Given the description of an element on the screen output the (x, y) to click on. 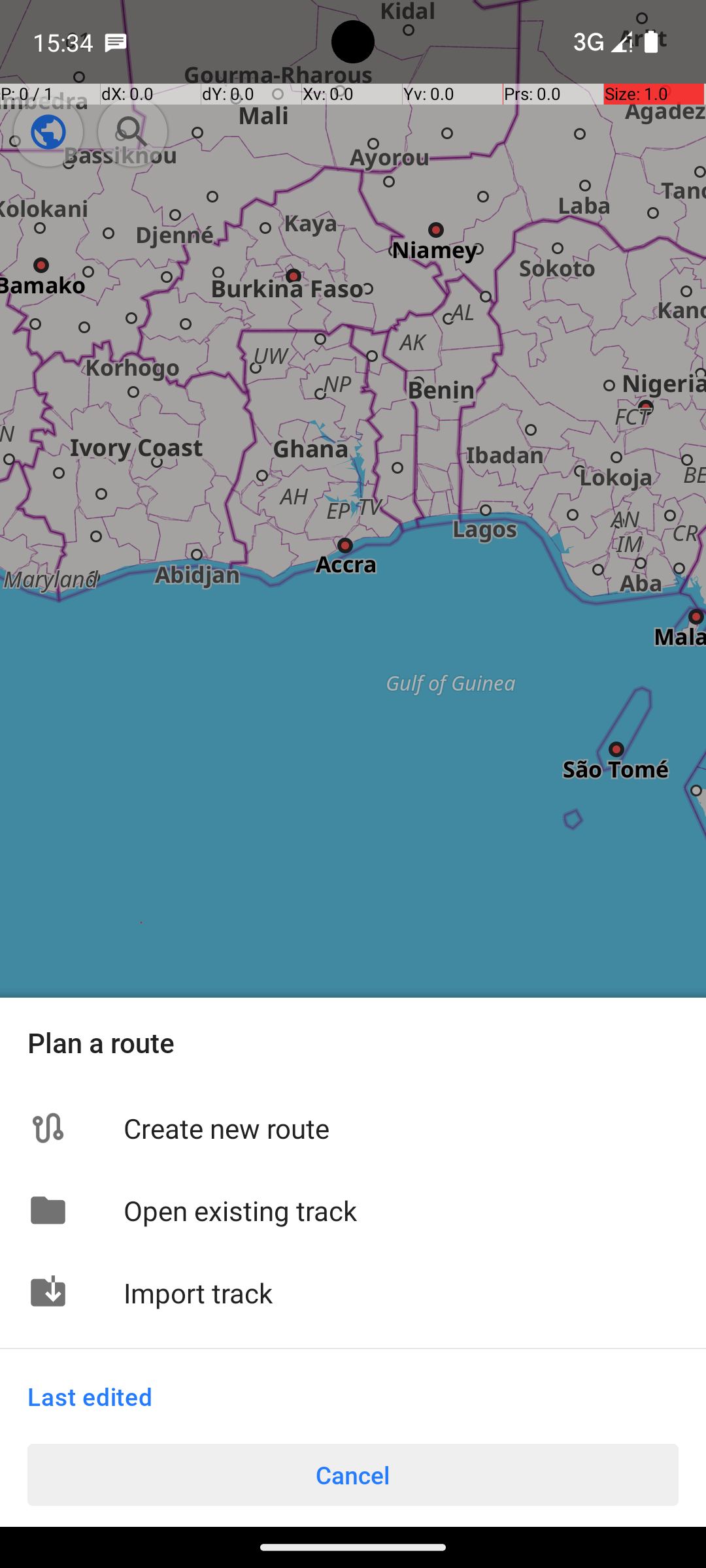
Close the dialog Element type: android.view.View (353, 527)
Plan a route Element type: android.widget.TextView (353, 1042)
Last edited Element type: android.widget.TextView (89, 1396)
Create new route Element type: android.widget.TextView (400, 1127)
Open existing track Element type: android.widget.TextView (400, 1209)
Import track Element type: android.widget.TextView (400, 1292)
